Given the description of an element on the screen output the (x, y) to click on. 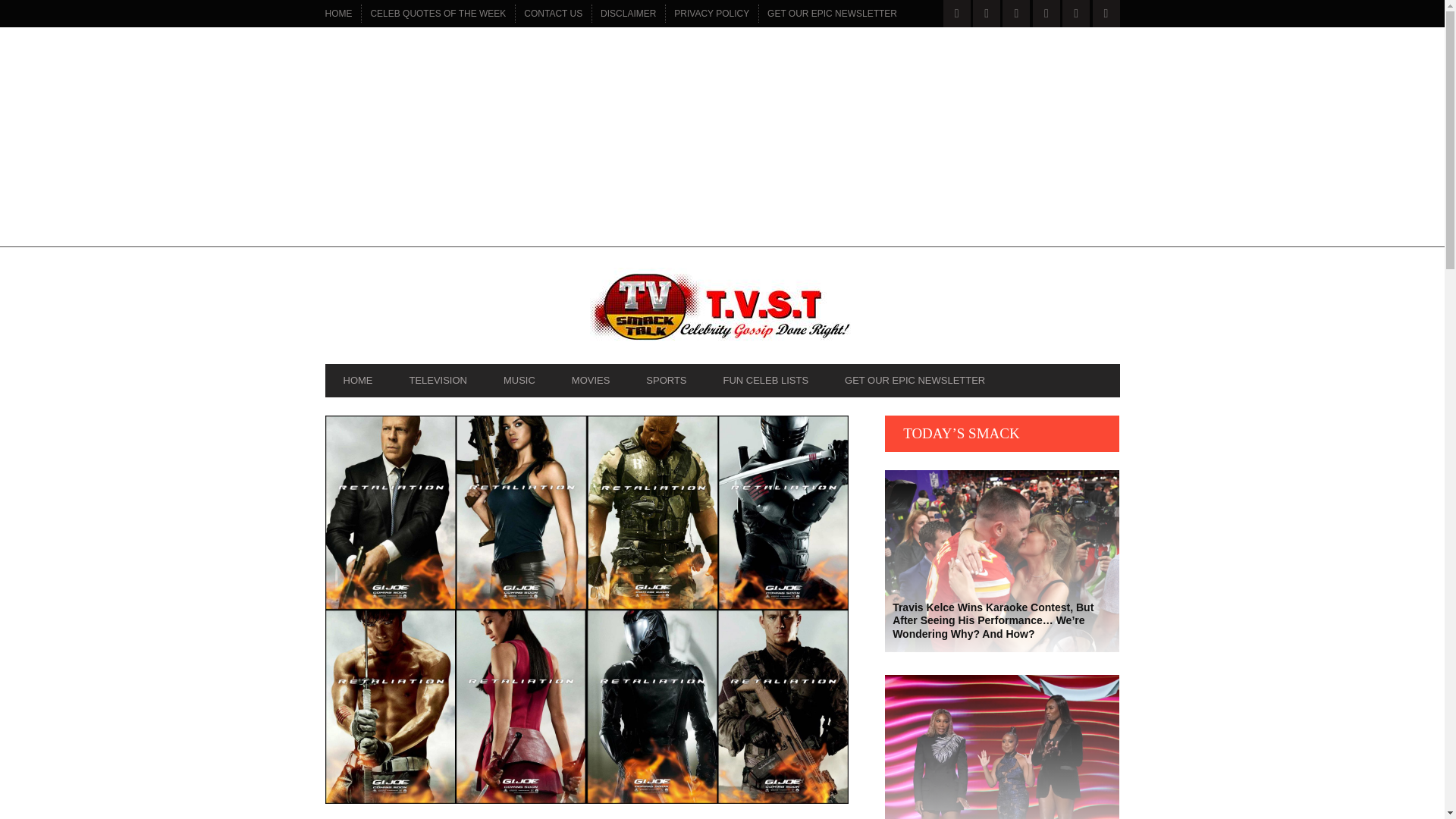
GET OUR EPIC NEWSLETTER (831, 13)
DISCLAIMER (628, 13)
TELEVISION (437, 379)
PRIVACY POLICY (711, 13)
T.V.S.T. (721, 308)
MOVIES (590, 379)
CELEB QUOTES OF THE WEEK (438, 13)
HOME (357, 379)
HOME (338, 13)
CONTACT US (553, 13)
